Given the description of an element on the screen output the (x, y) to click on. 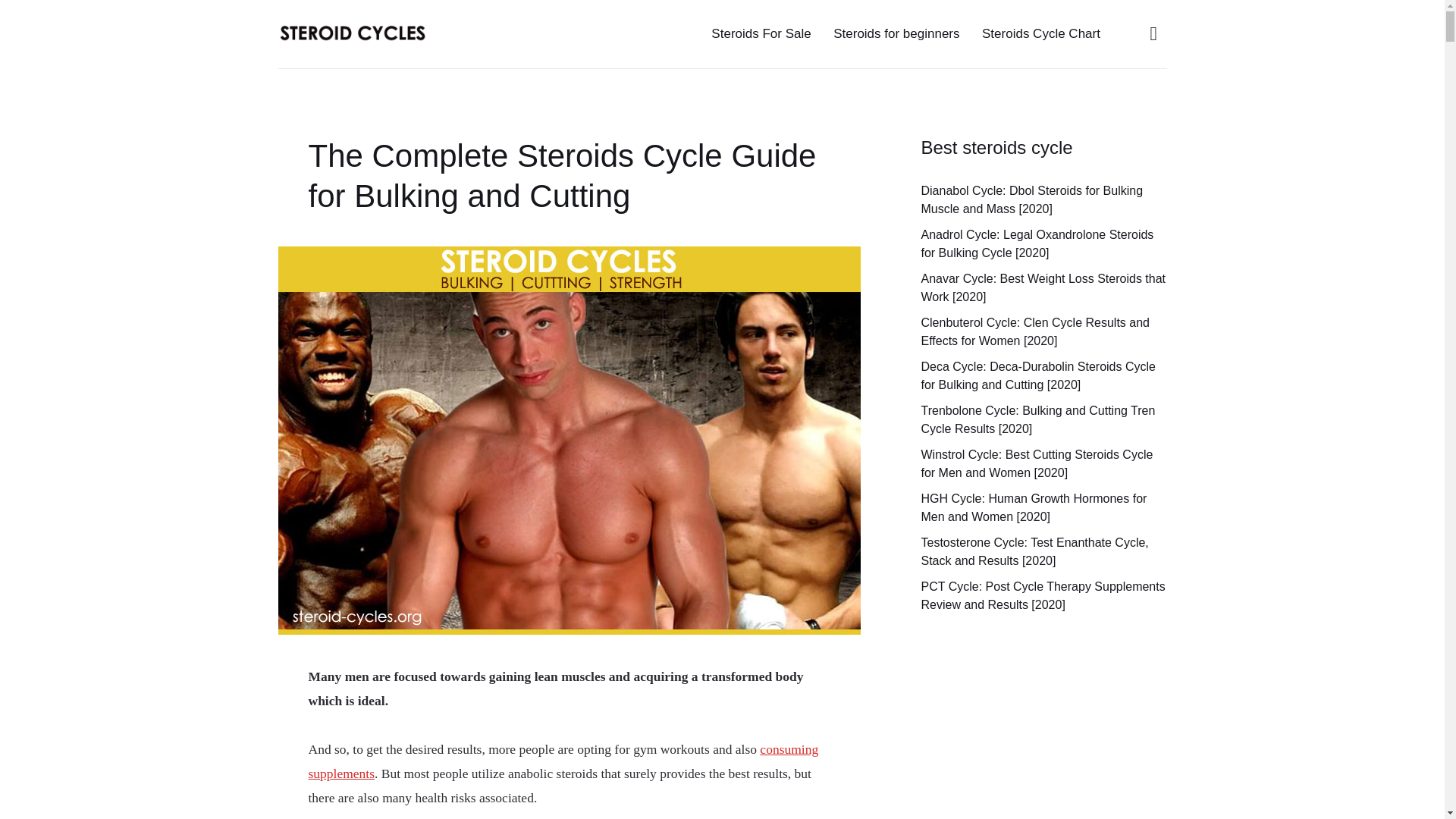
consuming supplements (562, 761)
Steroids for beginners (896, 33)
Steroids For Sale (761, 33)
Steroids Cycle Chart (1040, 33)
STEROID CYCLES (382, 33)
